Given the description of an element on the screen output the (x, y) to click on. 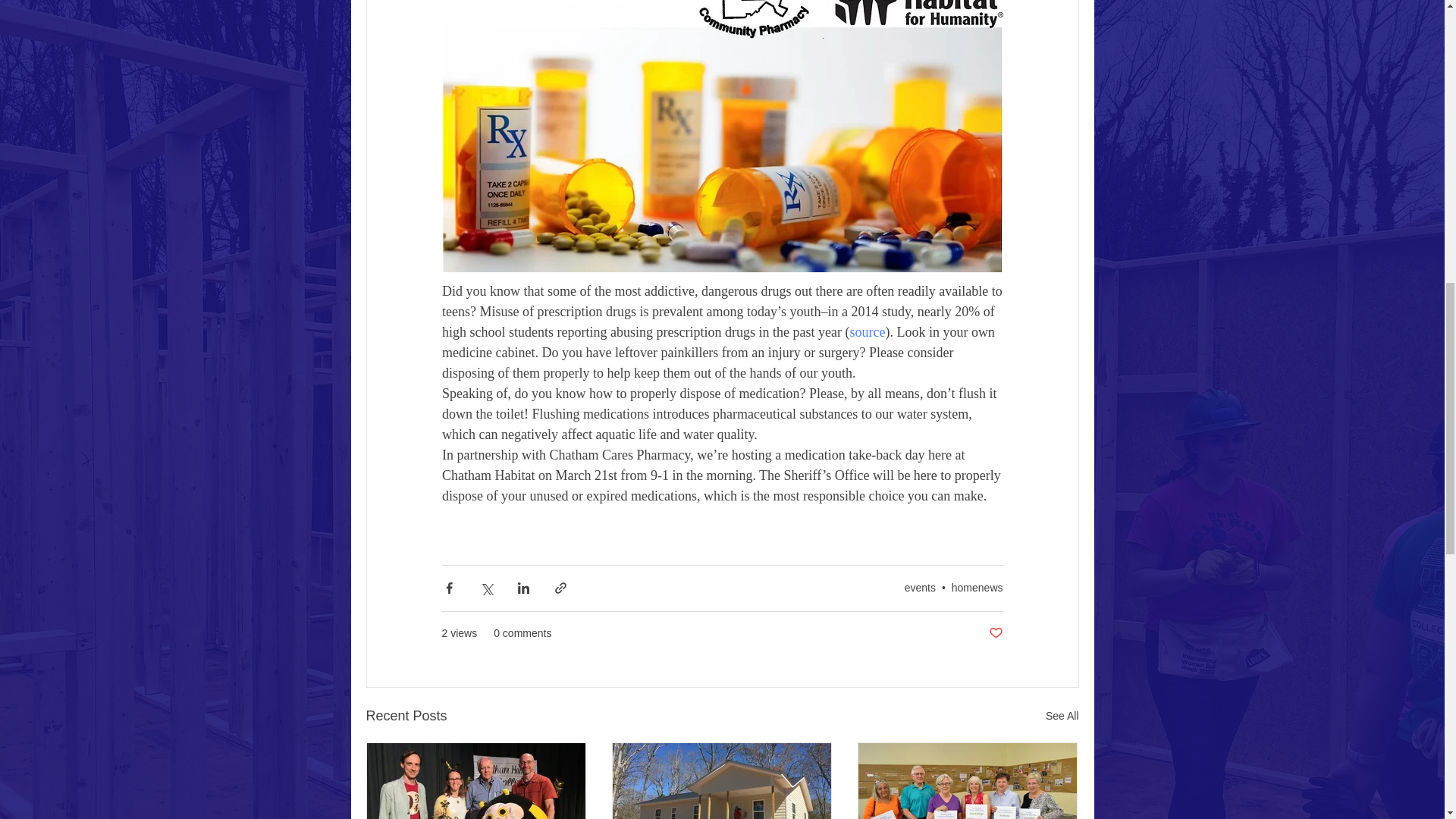
homenews (977, 587)
See All (1061, 716)
events (920, 587)
Post not marked as liked (995, 633)
source (866, 331)
